Given the description of an element on the screen output the (x, y) to click on. 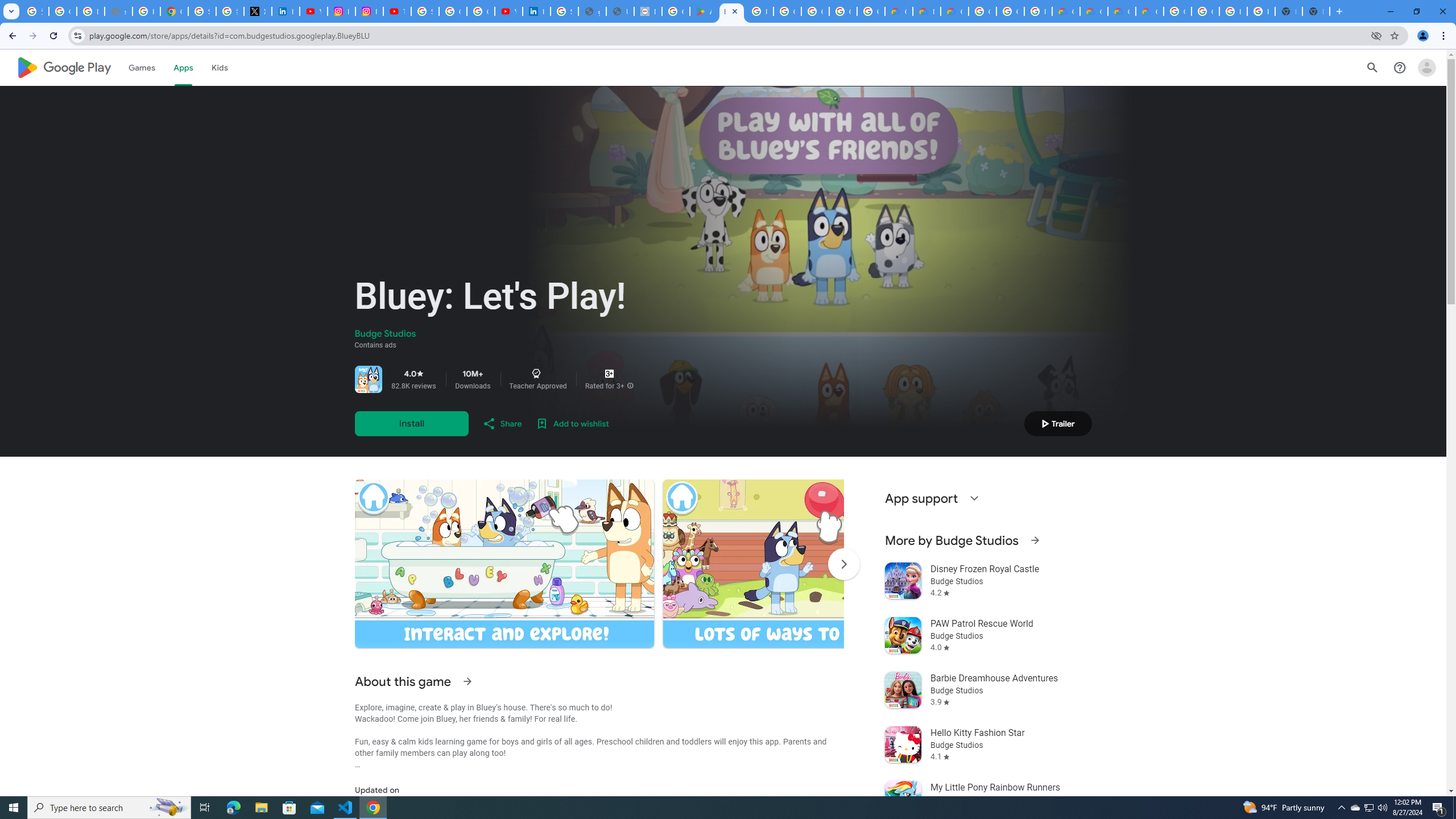
Sign in - Google Accounts (425, 11)
Gemini for Business and Developers | Google Cloud (955, 11)
LinkedIn Privacy Policy (285, 11)
support.google.com - Network error (118, 11)
Apps (182, 67)
Open account menu (1426, 67)
Google Play logo (64, 67)
Data Privacy Framework (647, 11)
